Given the description of an element on the screen output the (x, y) to click on. 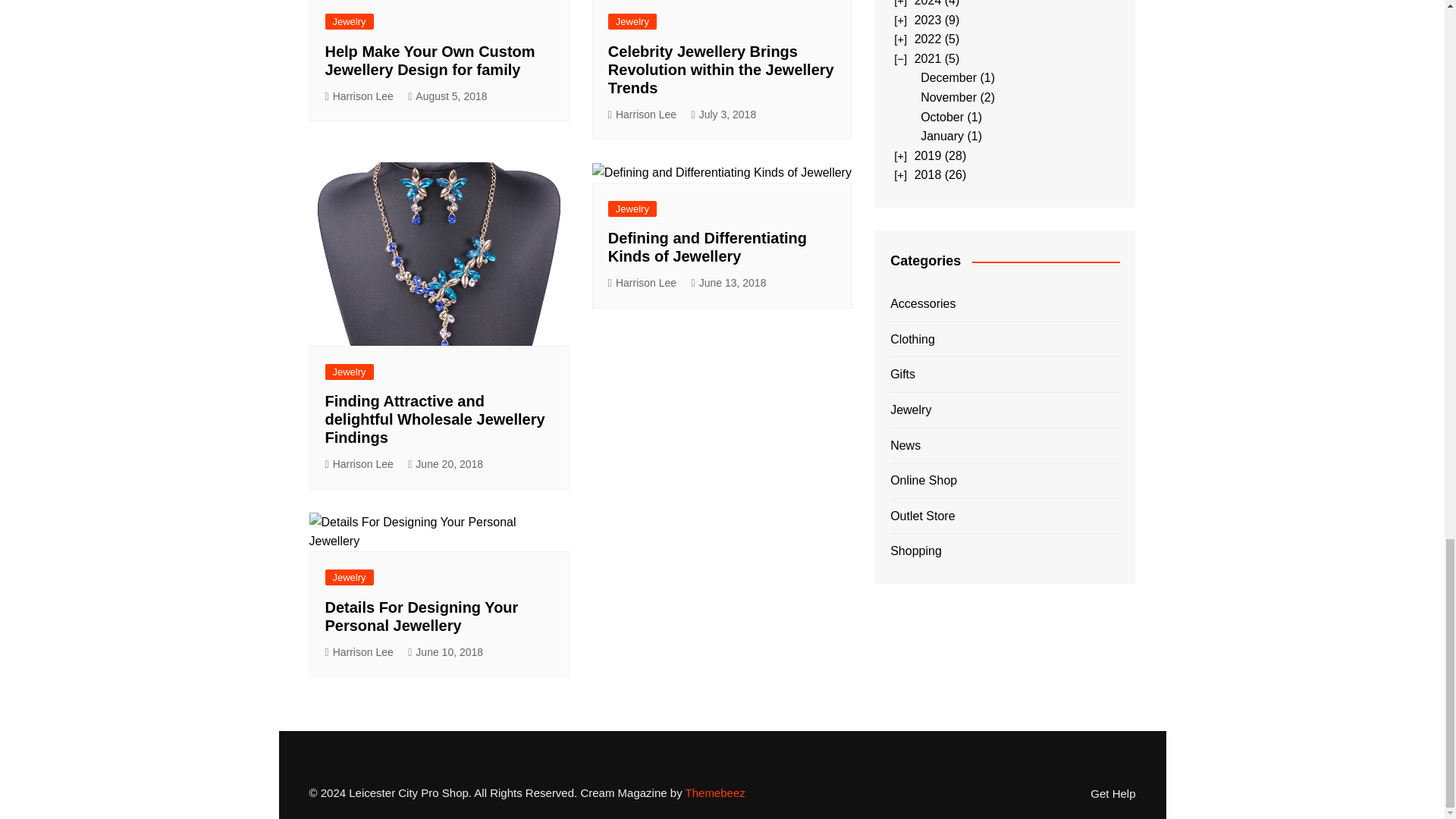
Defining and Differentiating Kinds of Jewellery (707, 247)
Harrison Lee (642, 282)
June 20, 2018 (445, 464)
Harrison Lee (358, 464)
Jewelry (632, 21)
Jewelry (632, 208)
Jewelry (348, 371)
July 3, 2018 (724, 114)
Harrison Lee (358, 96)
Jewelry (348, 21)
Harrison Lee (642, 114)
August 5, 2018 (446, 96)
Help Make Your Own Custom Jewellery Design for family (429, 60)
